Given the description of an element on the screen output the (x, y) to click on. 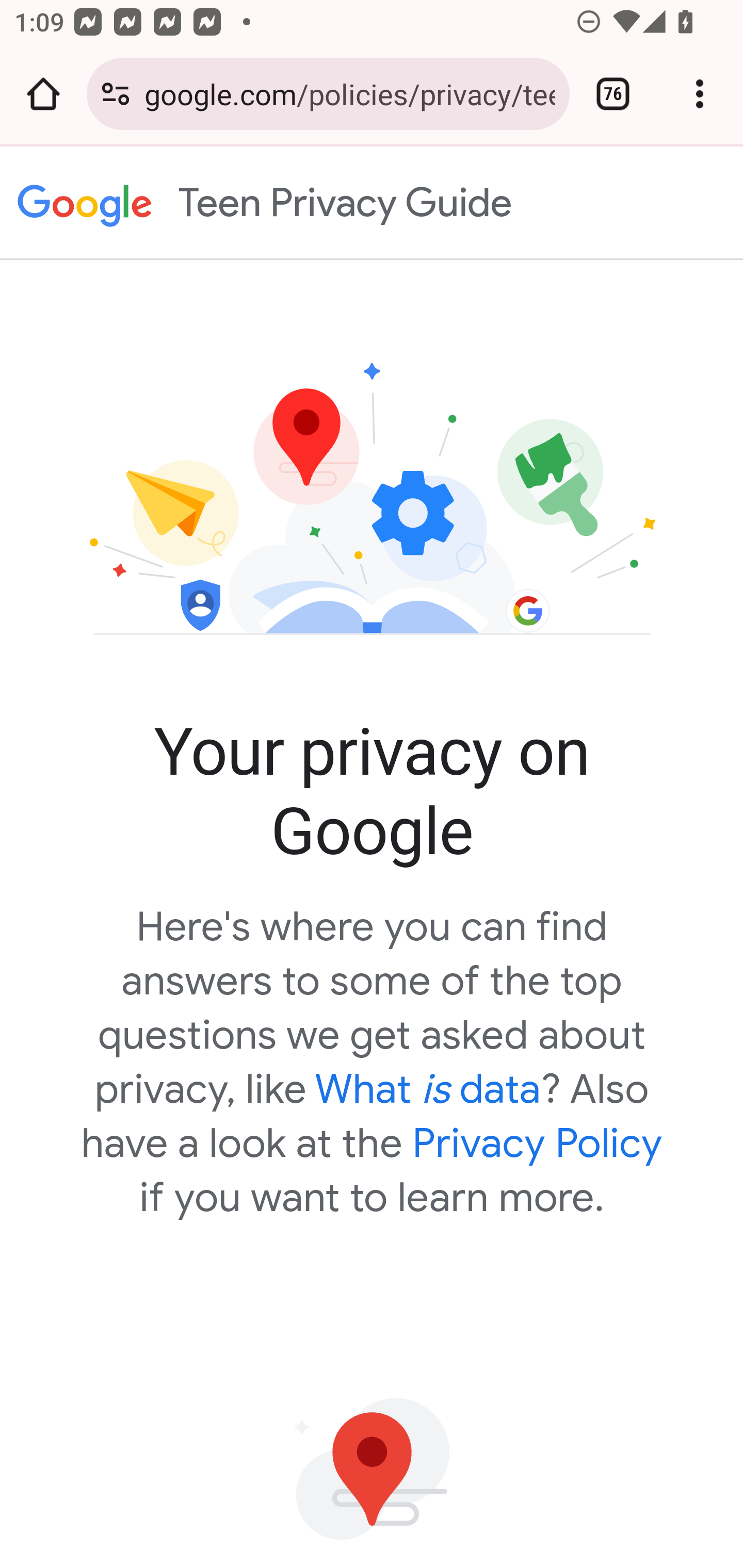
Open the home page (43, 93)
Connection is secure (115, 93)
Switch or close tabs (612, 93)
Customize and control Google Chrome (699, 93)
google.com/policies/privacy/teens/ (349, 92)
Teen Privacy Guide (84, 202)
Teen Privacy Guide (450, 202)
What is data What  is  data (427, 1089)
Privacy Policy (537, 1142)
